Given the description of an element on the screen output the (x, y) to click on. 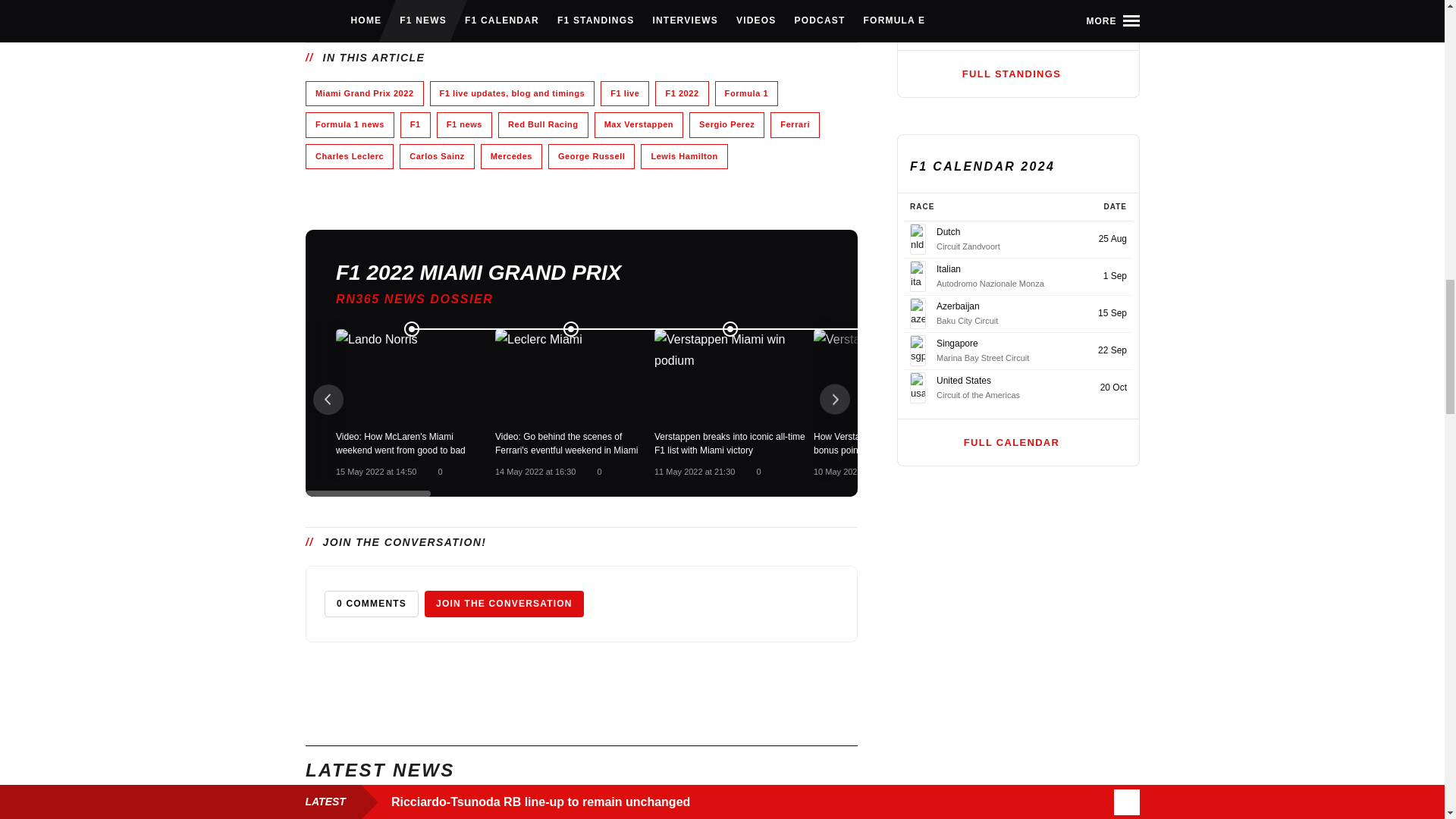
Monday, 29 July 2024 at 02:25 (628, 4)
Sunday, 15 May 2022 at 14:50 (374, 470)
